Given the description of an element on the screen output the (x, y) to click on. 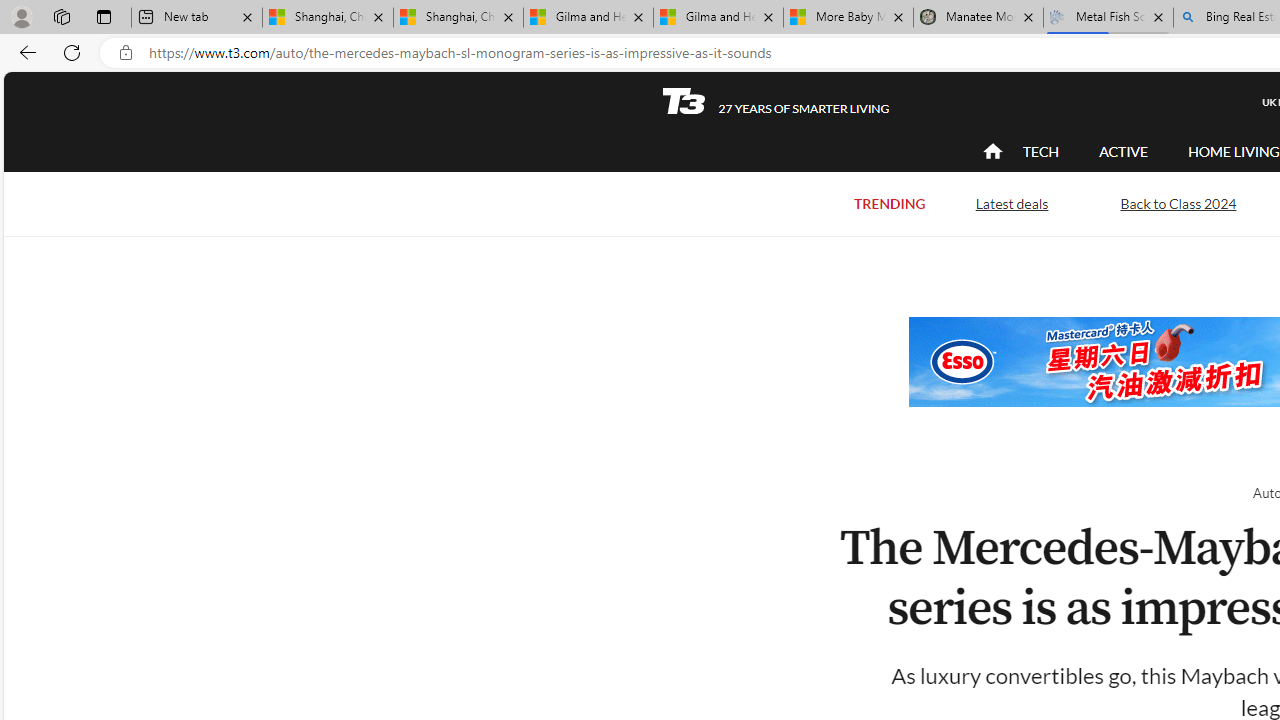
HOME LIVING (1233, 151)
Back to Class 2024 (1178, 204)
Back to Class 2024 (1178, 202)
TECH (1040, 151)
home (992, 152)
T3 (683, 100)
Gilma and Hector both pose tropical trouble for Hawaii (718, 17)
ACTIVE (1124, 151)
Class: navigation__item (990, 151)
